Given the description of an element on the screen output the (x, y) to click on. 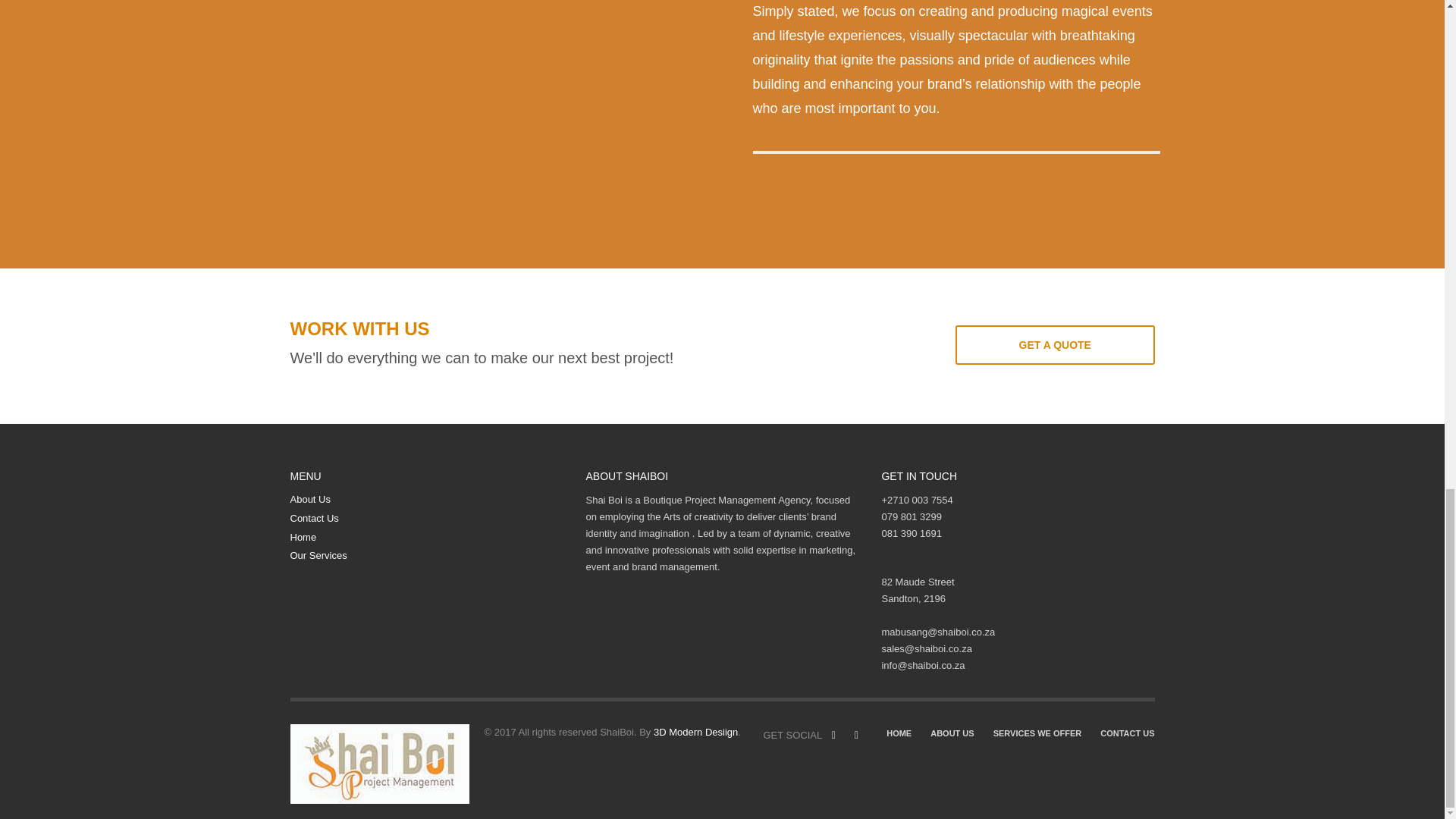
CONTACT US (1127, 732)
Home (425, 537)
Follow our tweets! (855, 734)
GET A QUOTE (1054, 344)
About Us (425, 499)
Contact Us (425, 519)
Like us on Facebook! (833, 734)
HOME (898, 732)
ABOUT US (952, 732)
Our Services (425, 555)
